Given the description of an element on the screen output the (x, y) to click on. 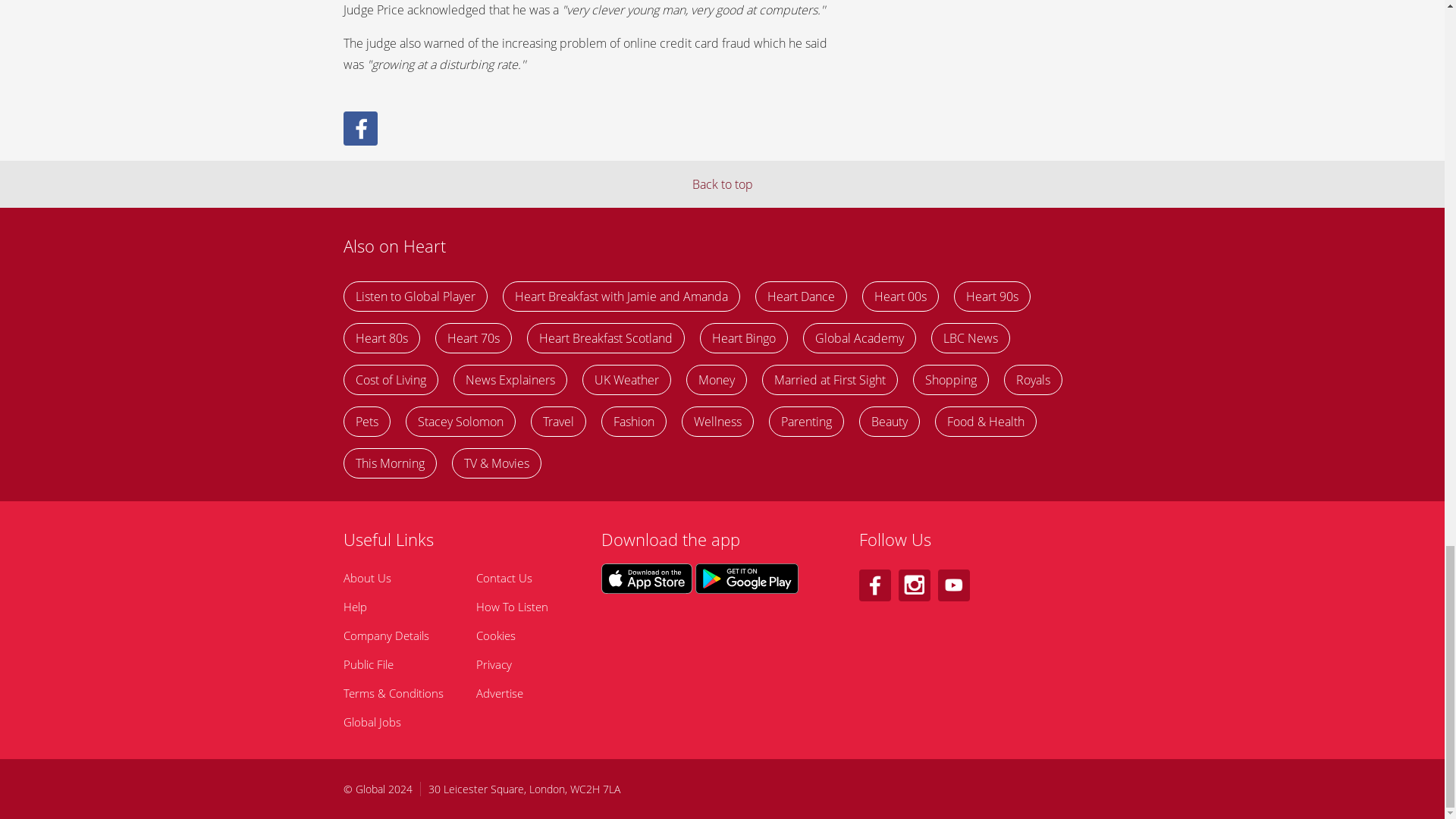
Follow Heart on Facebook (874, 585)
Follow Heart on Instagram (914, 585)
Follow Heart on Youtube (953, 585)
Back to top (721, 184)
